Given the description of an element on the screen output the (x, y) to click on. 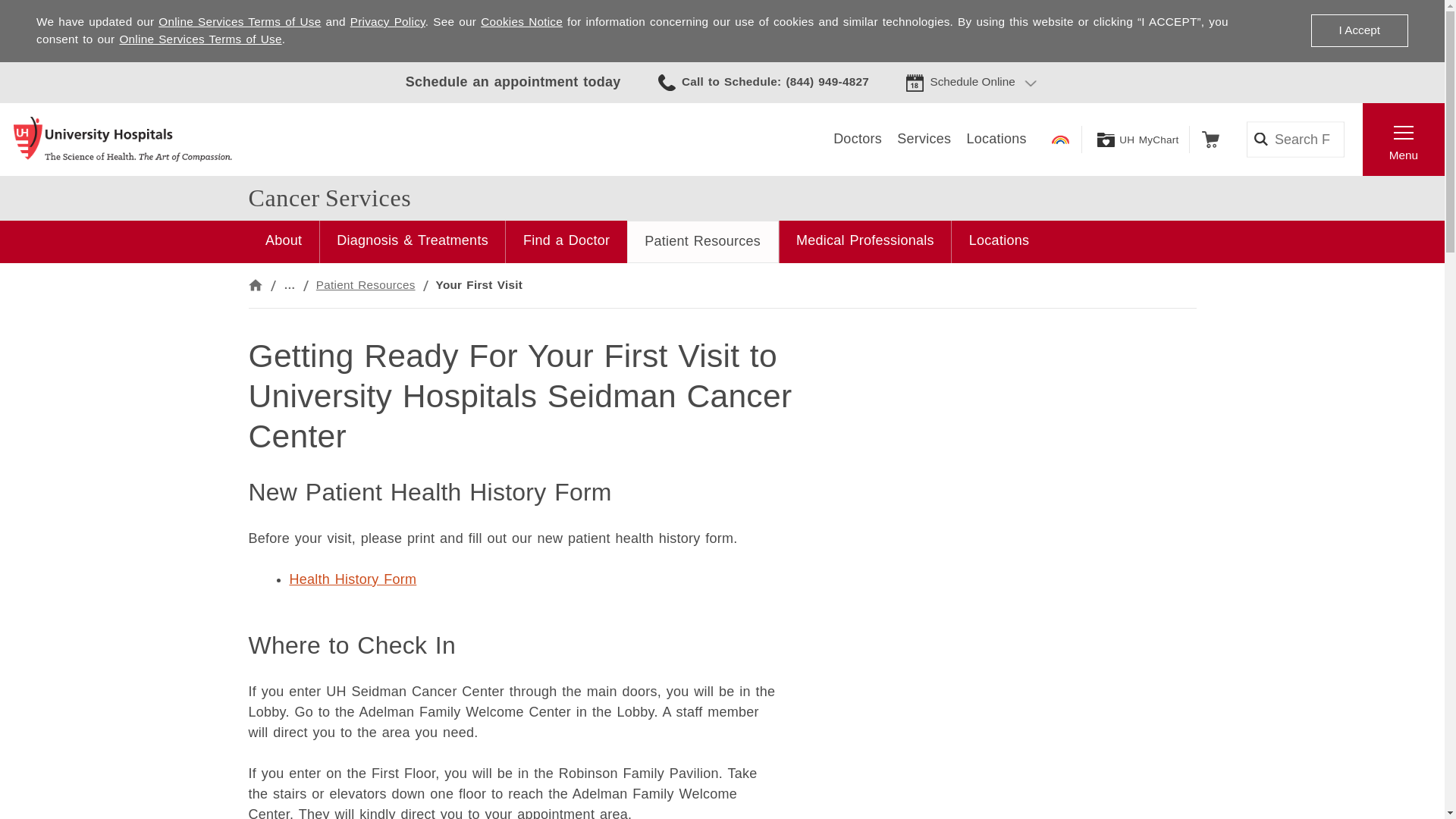
Online Services Terms of Use (200, 38)
Schedule Online (972, 81)
Privacy Policy (387, 21)
Online Services Terms of Use (239, 21)
Cookies Notice (521, 21)
I Accept (1359, 30)
